Given the description of an element on the screen output the (x, y) to click on. 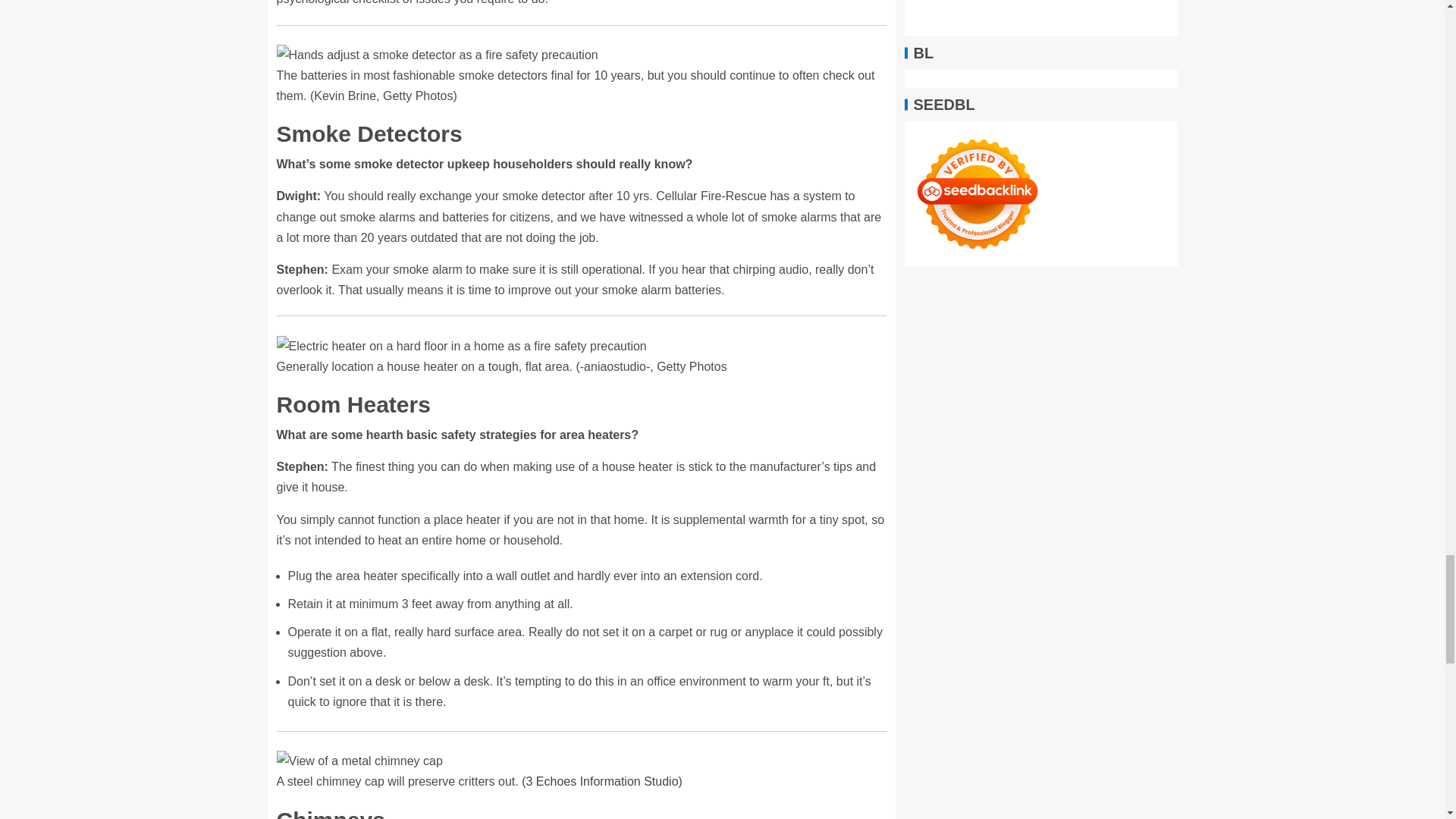
3 Echoes Information Studio (601, 780)
